Given the description of an element on the screen output the (x, y) to click on. 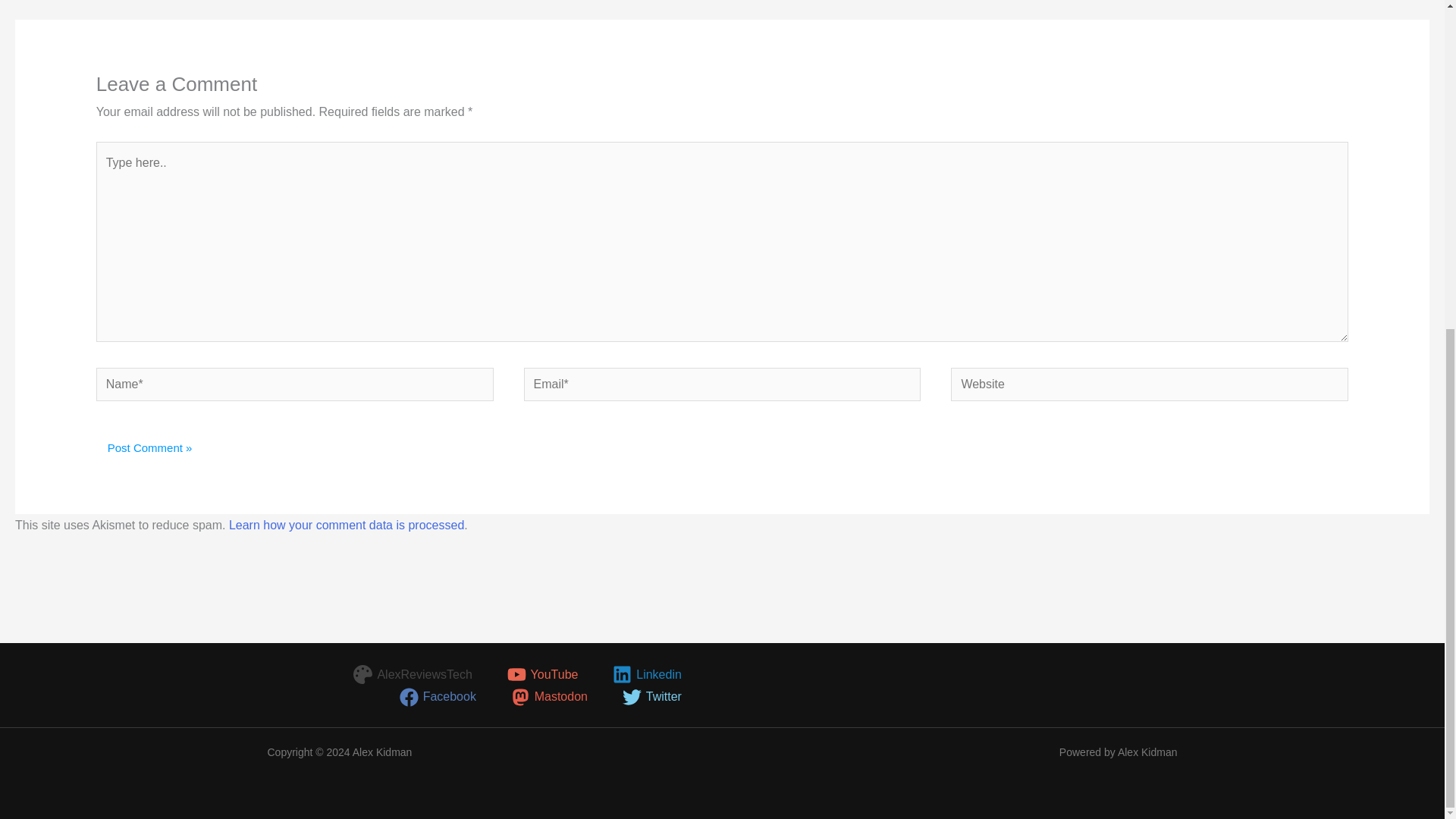
Mastodon (548, 696)
Facebook (437, 696)
YouTube (542, 674)
Twitter (651, 696)
Linkedin (646, 674)
Learn how your comment data is processed (346, 524)
AlexReviewsTech (413, 674)
